Given the description of an element on the screen output the (x, y) to click on. 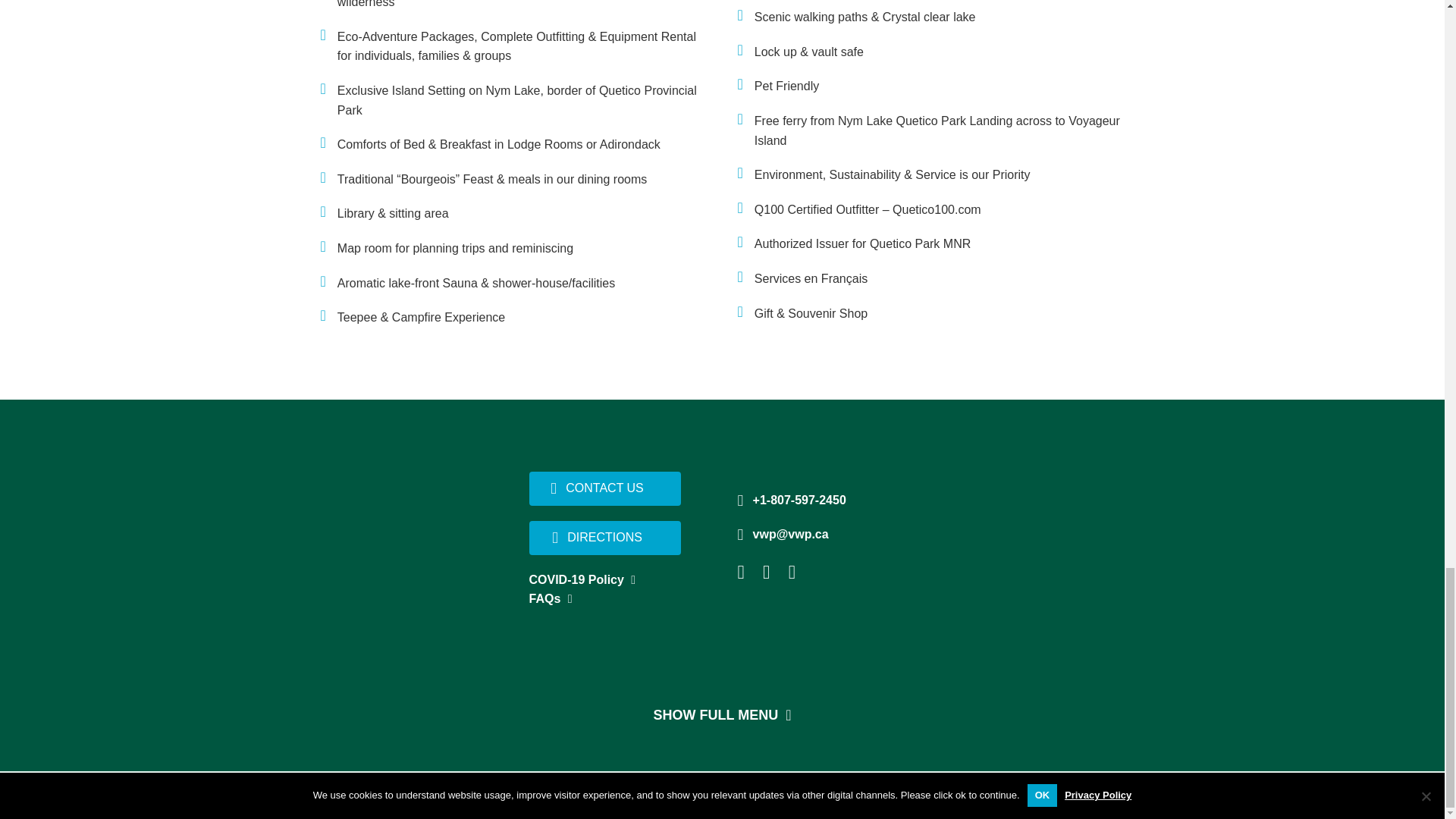
Bowsman White (1027, 536)
Portrait Logo (401, 536)
